Given the description of an element on the screen output the (x, y) to click on. 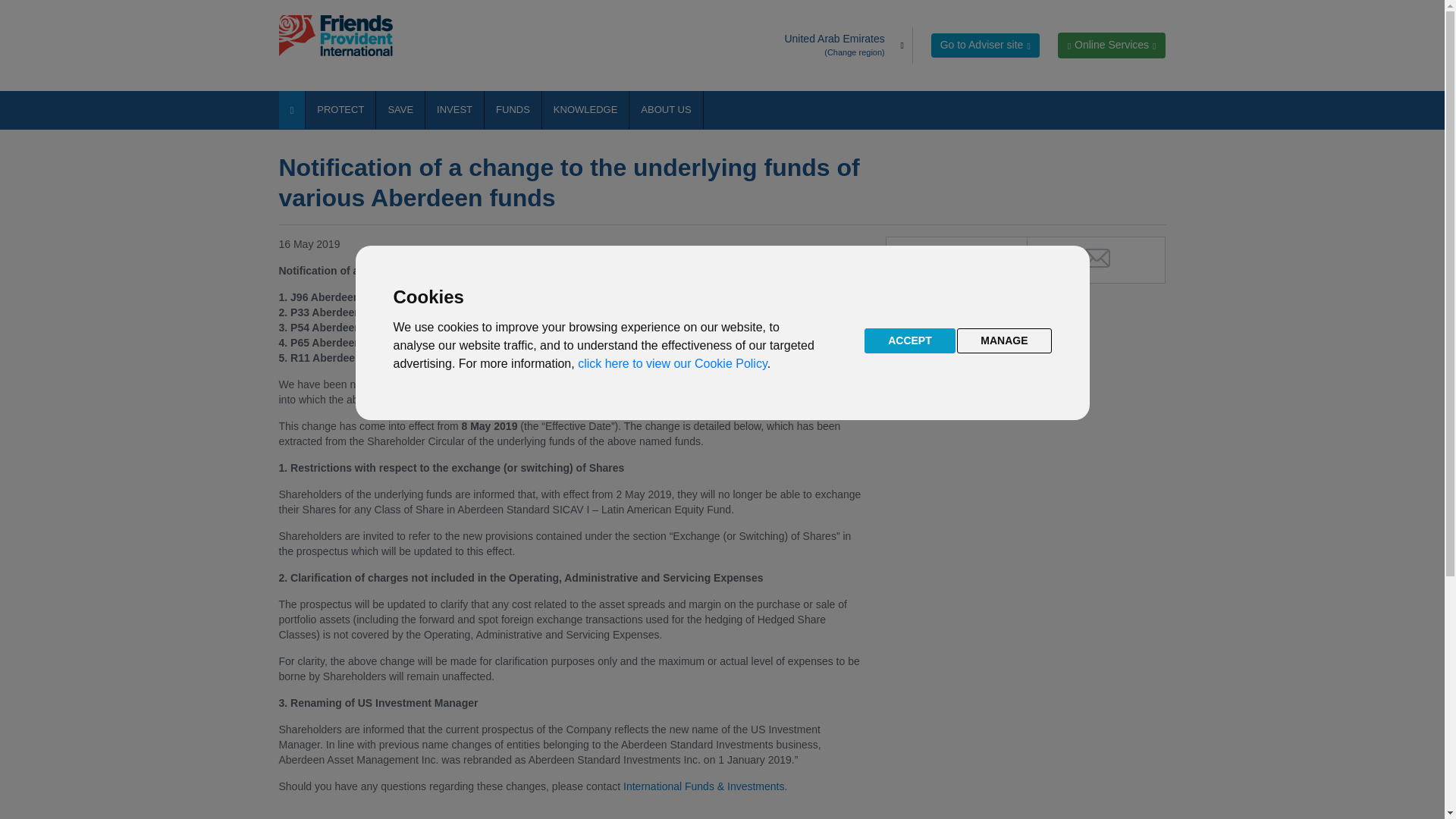
MANAGE (1003, 340)
FUNDS (512, 109)
click here to view our Cookie Policy (672, 363)
United Arab Emirates - Customer site home page (343, 35)
PROTECT (340, 109)
Online Services (1112, 45)
Go to Adviser site (985, 45)
Protect (340, 109)
Online Services (1112, 45)
INVEST (454, 109)
ACCEPT (909, 340)
SAVE (400, 109)
Go to Adviser site (985, 45)
